Given the description of an element on the screen output the (x, y) to click on. 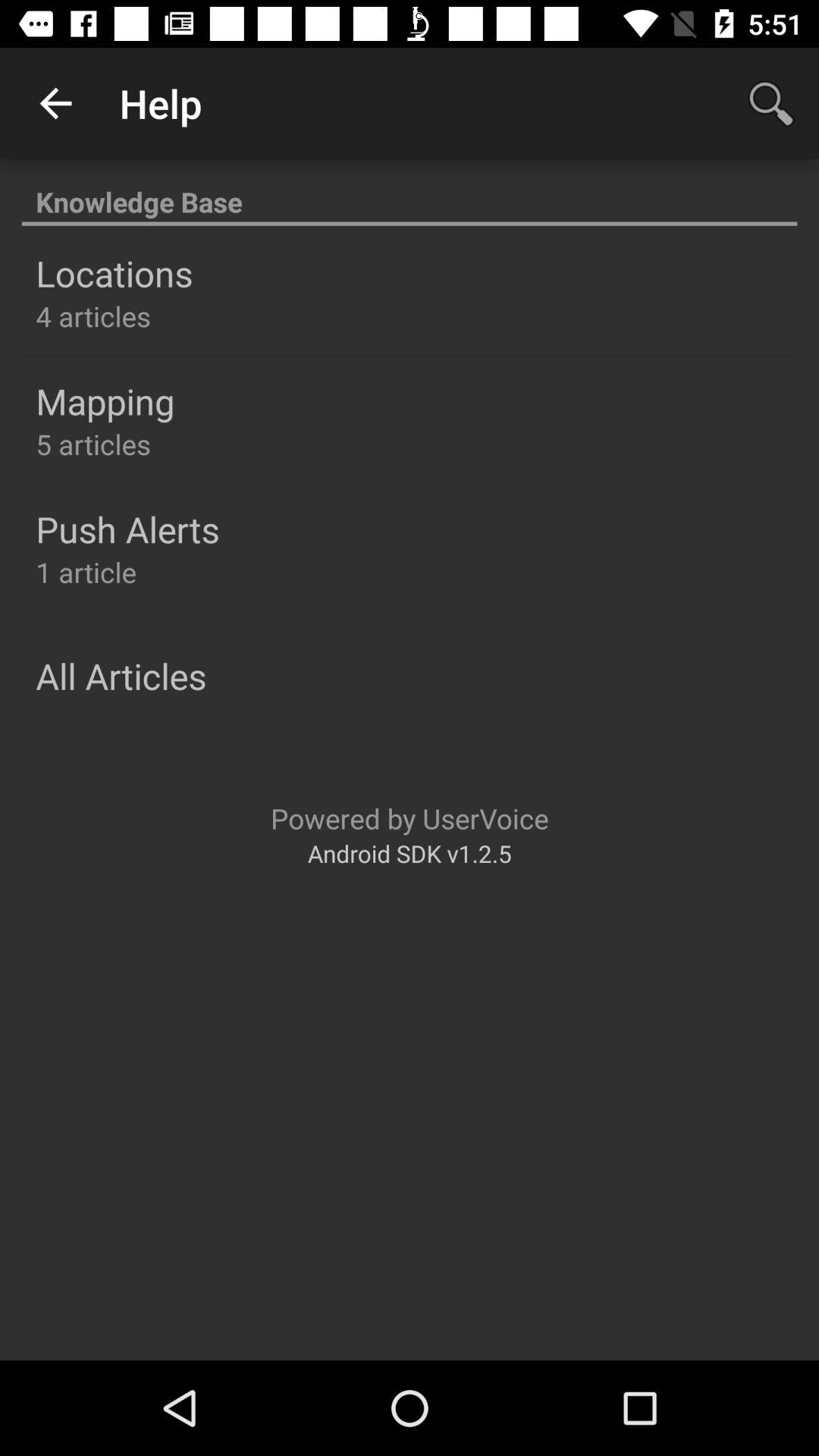
jump until all articles (120, 675)
